Given the description of an element on the screen output the (x, y) to click on. 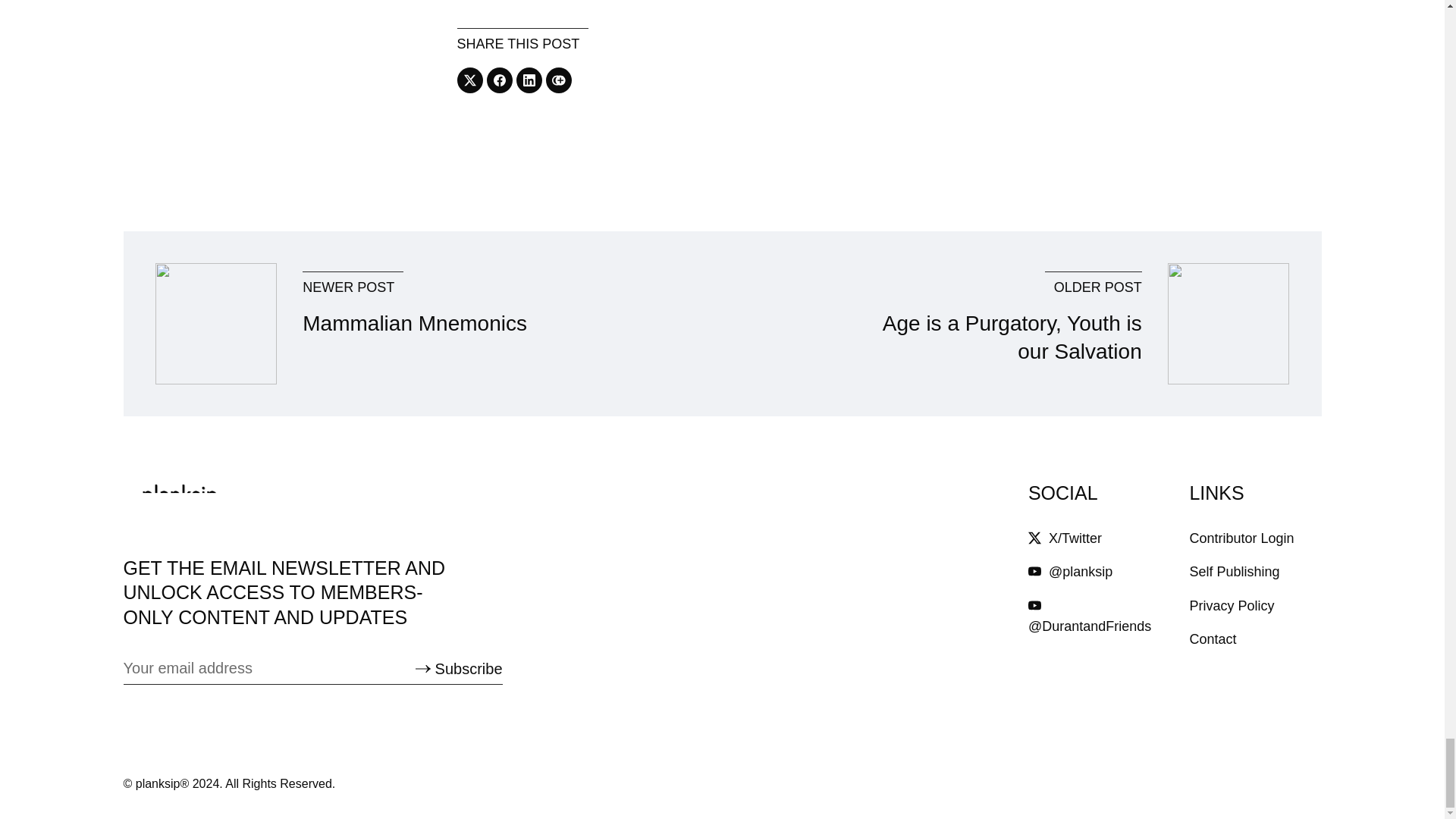
Contributor Login (1241, 538)
Privacy Policy (1231, 605)
Self Publishing (1234, 571)
Subscribe (458, 668)
Contact (1212, 639)
